Given the description of an element on the screen output the (x, y) to click on. 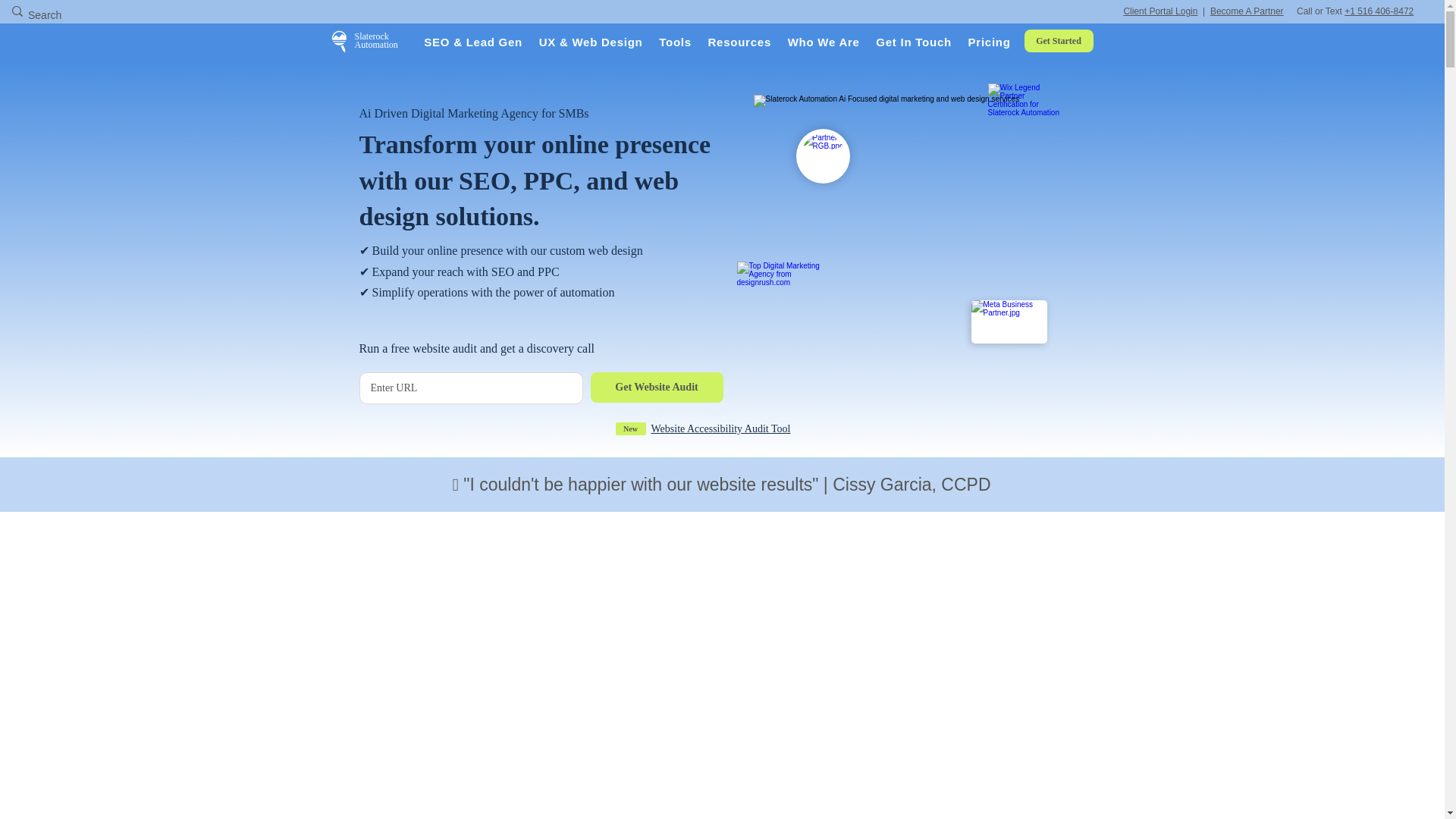
Become A Partner (1246, 10)
Slaterock Automation (376, 40)
Resources (739, 41)
Client Portal Login (1159, 10)
